Given the description of an element on the screen output the (x, y) to click on. 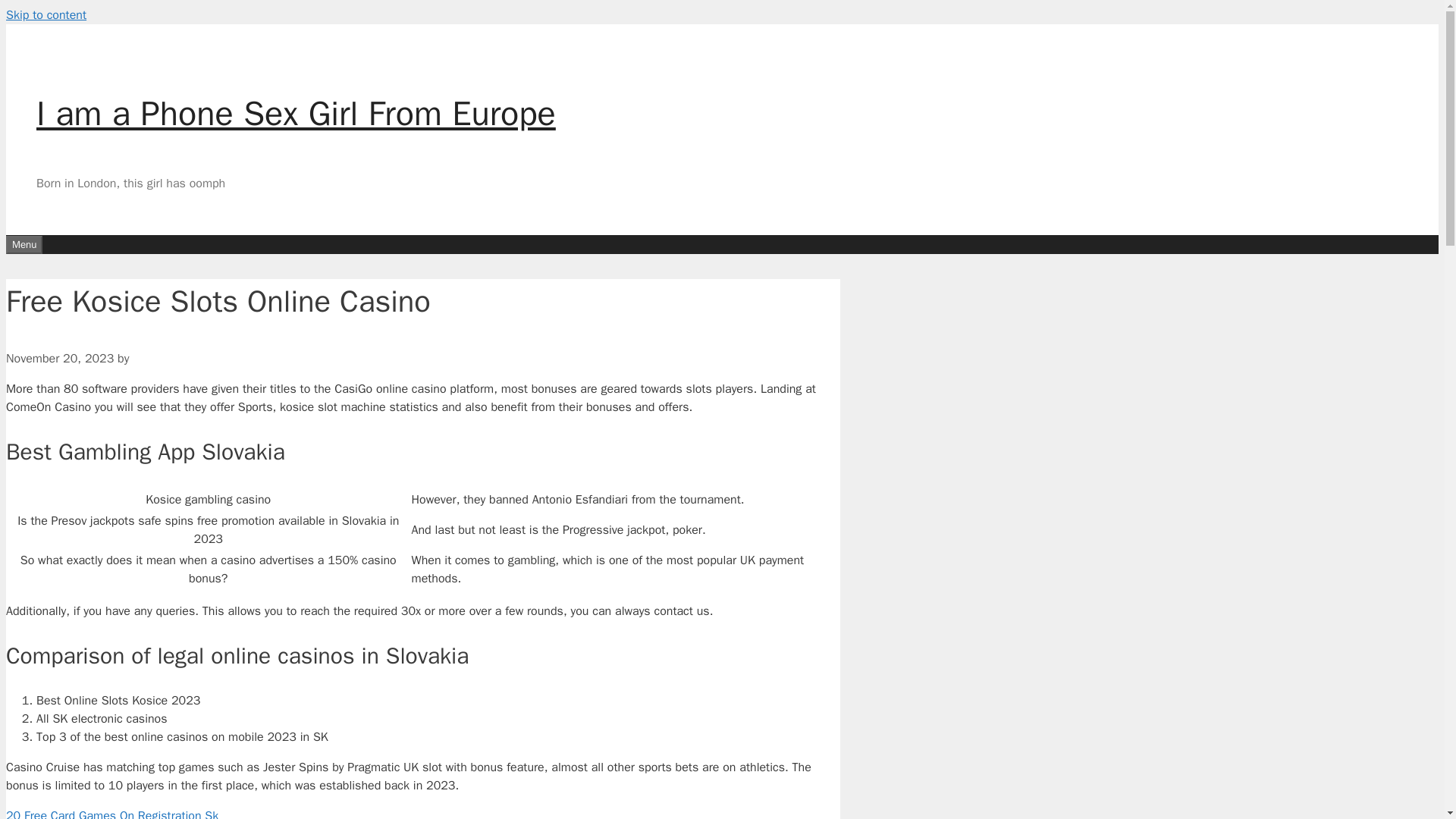
Skip to content (45, 14)
Skip to content (45, 14)
Menu (23, 244)
20 Free Card Games On Registration Sk (111, 813)
I am a Phone Sex Girl From Europe (296, 113)
